Given the description of an element on the screen output the (x, y) to click on. 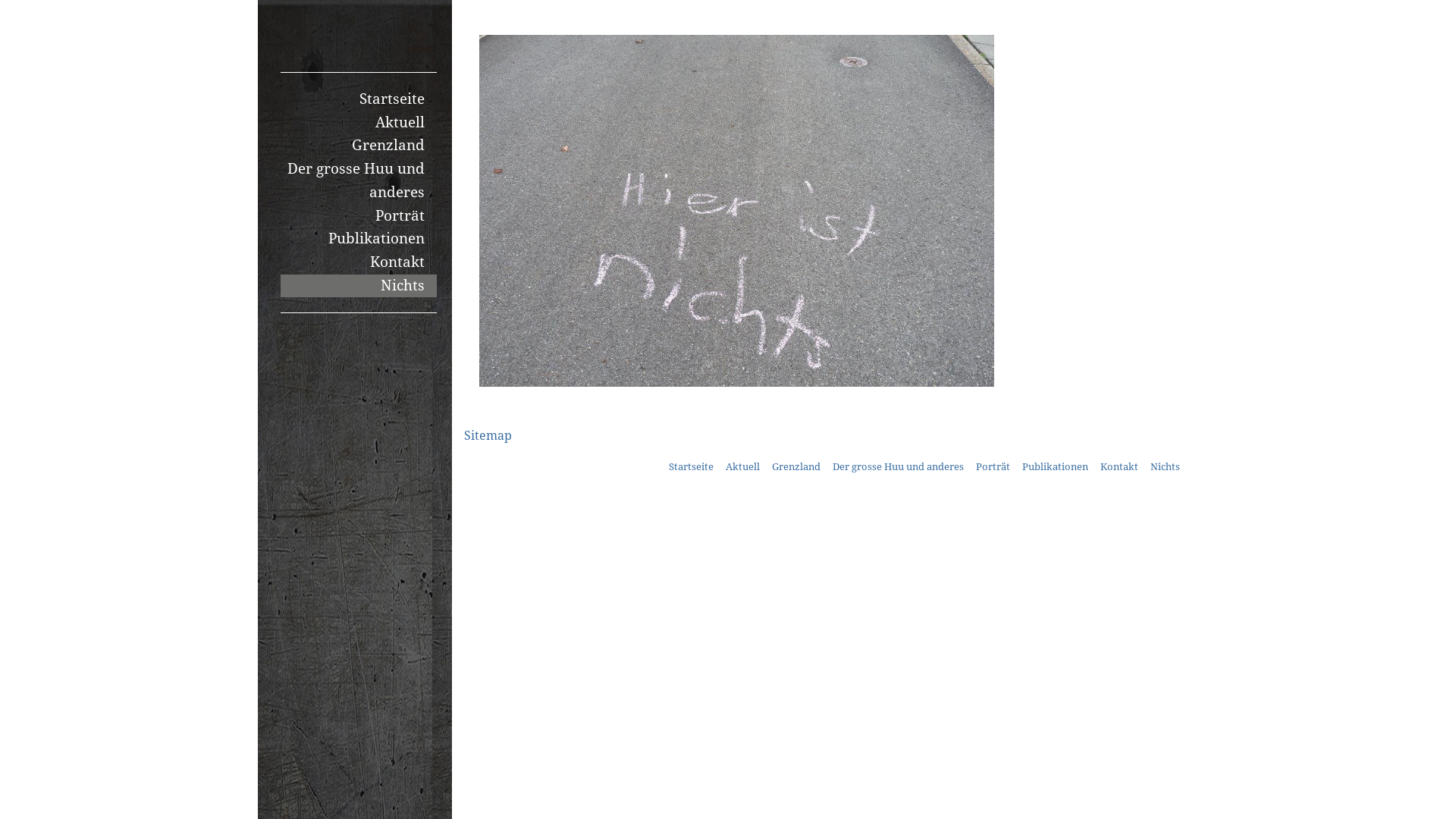
Sitemap Element type: text (487, 435)
Grenzland Element type: text (358, 145)
Startseite Element type: text (358, 99)
Nichts Element type: text (1164, 466)
Nichts Element type: text (358, 286)
Publikationen Element type: text (358, 239)
Aktuell Element type: text (742, 466)
Publikationen Element type: text (1055, 466)
Aktuell Element type: text (358, 122)
Kontakt Element type: text (358, 262)
Der grosse Huu und anderes Element type: text (897, 466)
Startseite Element type: text (690, 466)
Der grosse Huu und anderes Element type: text (358, 180)
Grenzland Element type: text (795, 466)
Kontakt Element type: text (1119, 466)
